Given the description of an element on the screen output the (x, y) to click on. 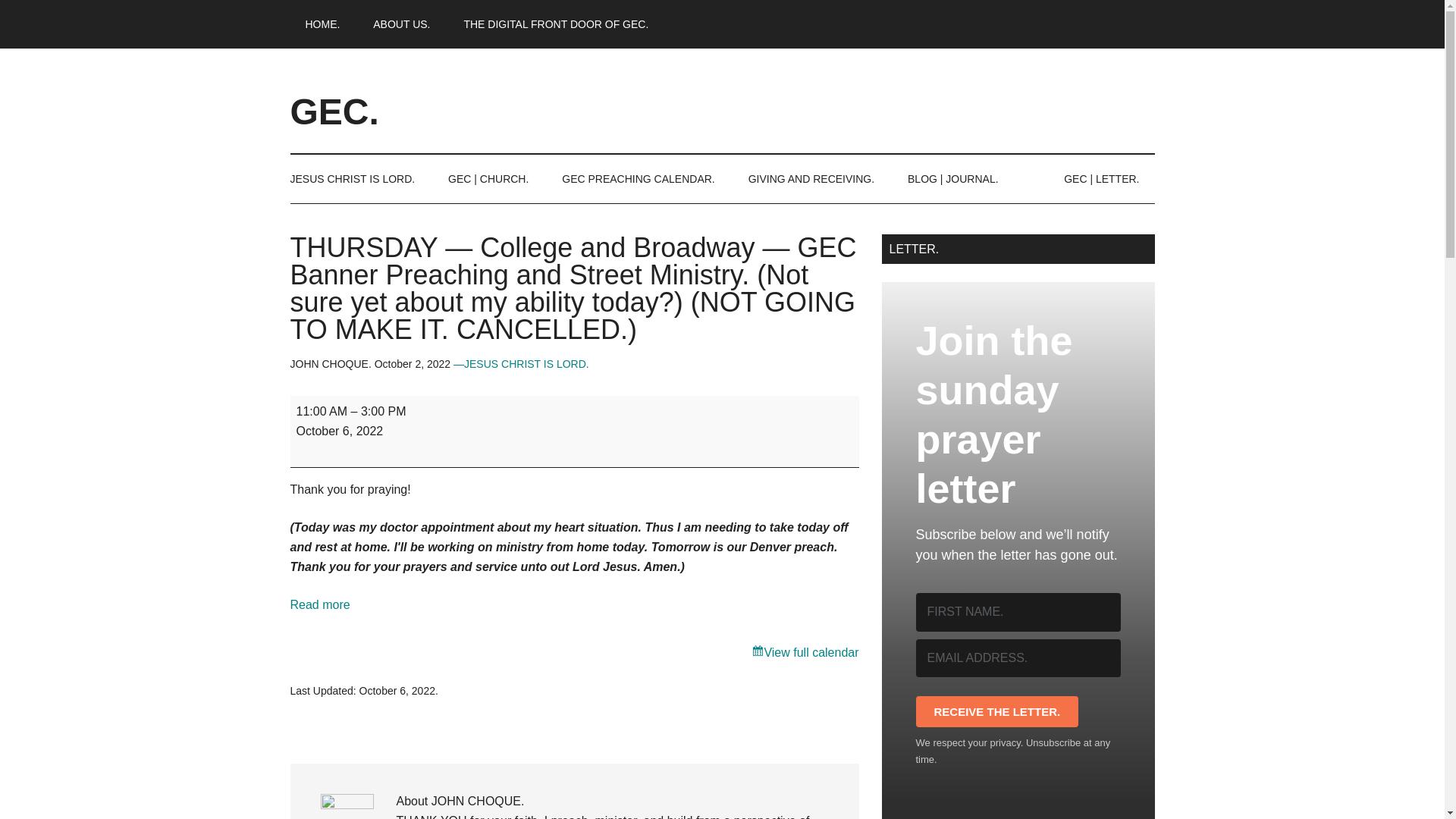
JESUS SAVES. (359, 178)
GEC. (333, 111)
PAGE ONE. (322, 24)
JESUS CHRIST IS LORD. (359, 178)
THE DIGITAL FRONT DOOR OF GEC. (555, 24)
GEC PREACHING CALENDAR. (638, 178)
HOME. (322, 24)
ABOUT US. (401, 24)
SIMPLE. (401, 24)
